Given the description of an element on the screen output the (x, y) to click on. 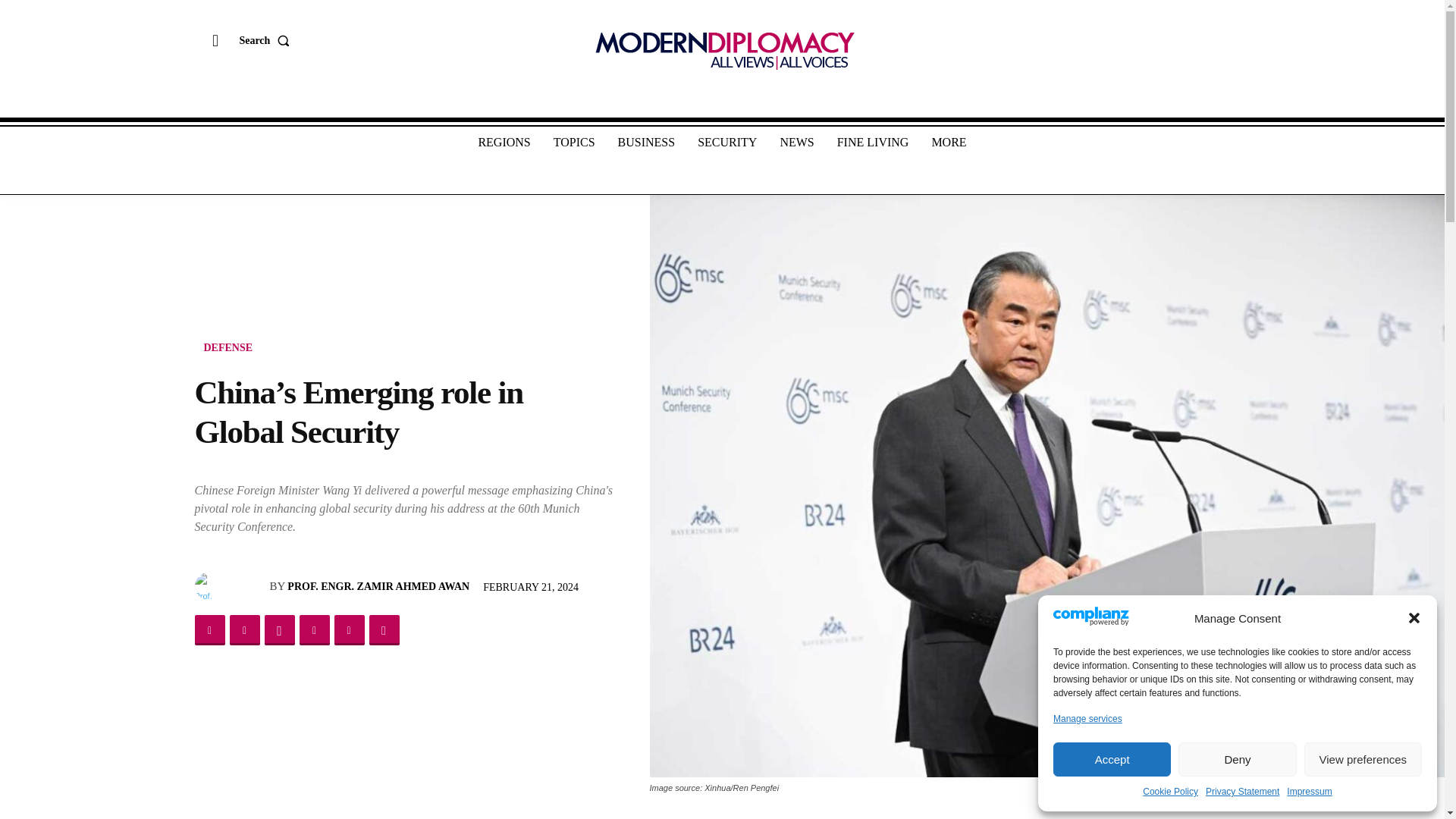
Linkedin (313, 630)
WhatsApp (278, 630)
Cookie Policy (1170, 791)
Facebook (208, 630)
View preferences (1363, 759)
Deny (1236, 759)
ReddIt (348, 630)
Manage services (1087, 719)
Accept (1111, 759)
Impressum (1309, 791)
Prof. Engr. Zamir Ahmed Awan (209, 585)
Privacy Statement (1242, 791)
Twitter (243, 630)
